Given the description of an element on the screen output the (x, y) to click on. 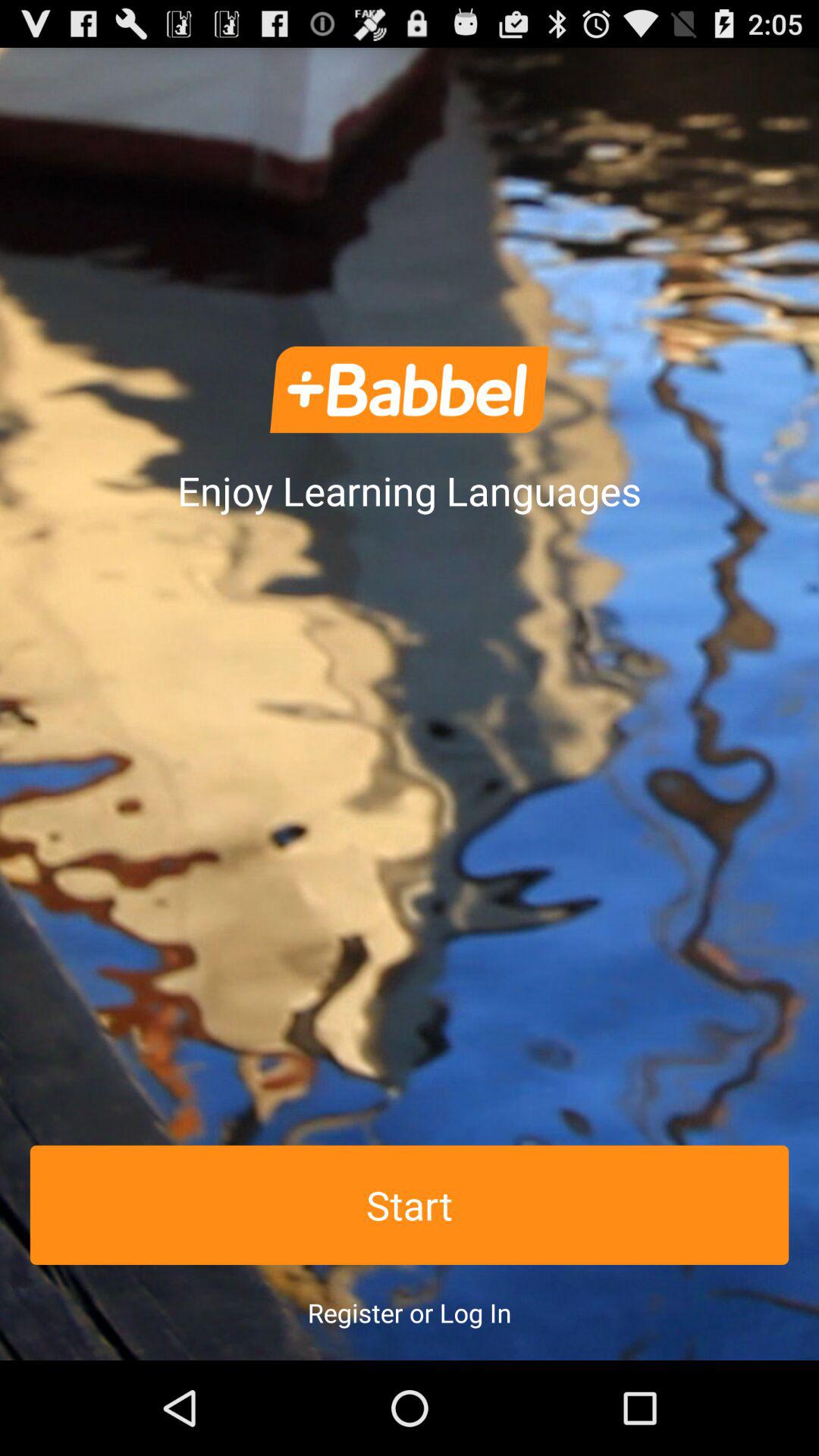
turn off the icon above the register or log icon (409, 1204)
